Given the description of an element on the screen output the (x, y) to click on. 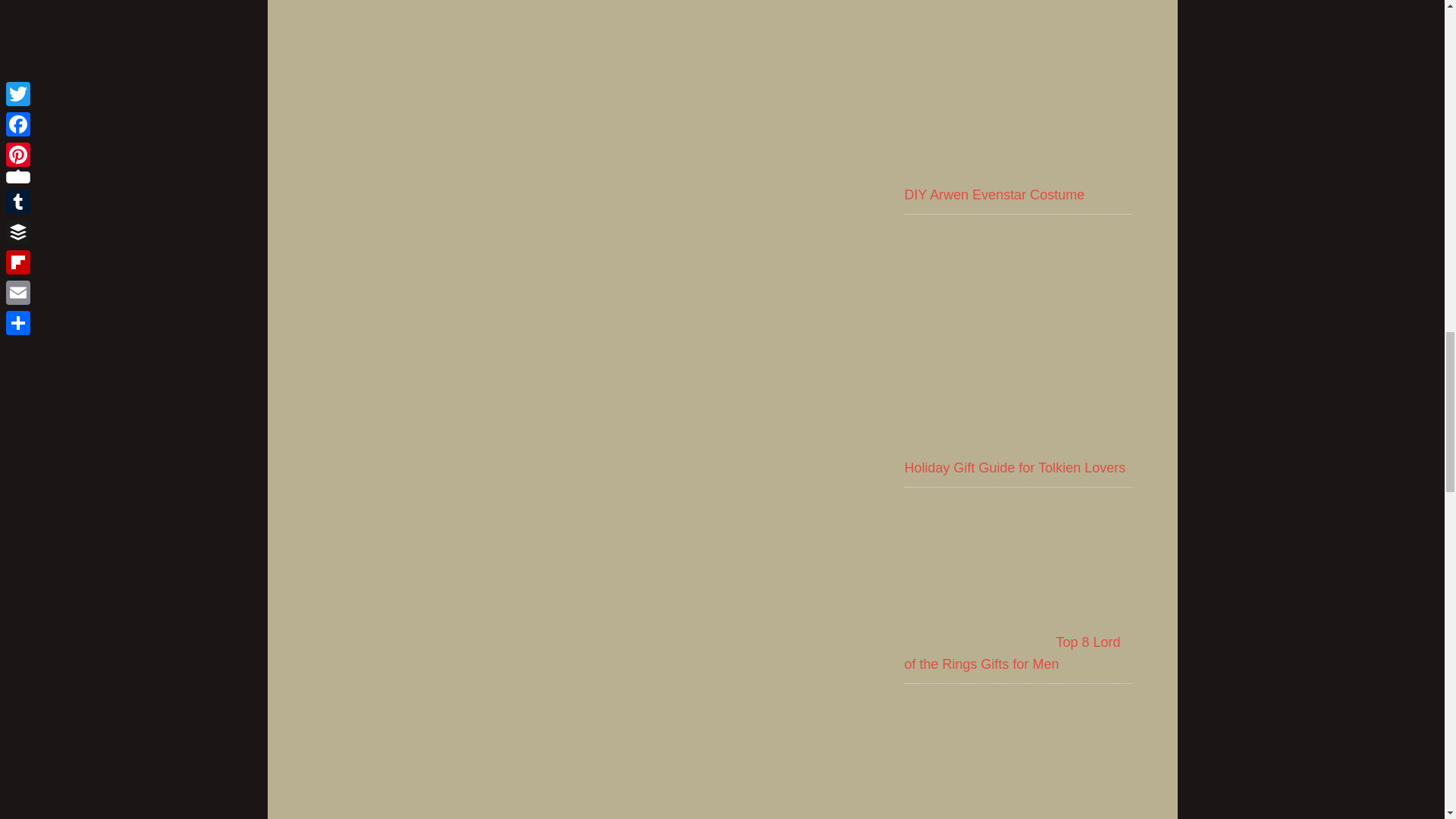
Holiday Gift Guide for Tolkien Lovers (1014, 467)
Top 8 Lord of the Rings Gifts for Men (1011, 652)
DIY Arwen Evenstar Costume (994, 194)
